Given the description of an element on the screen output the (x, y) to click on. 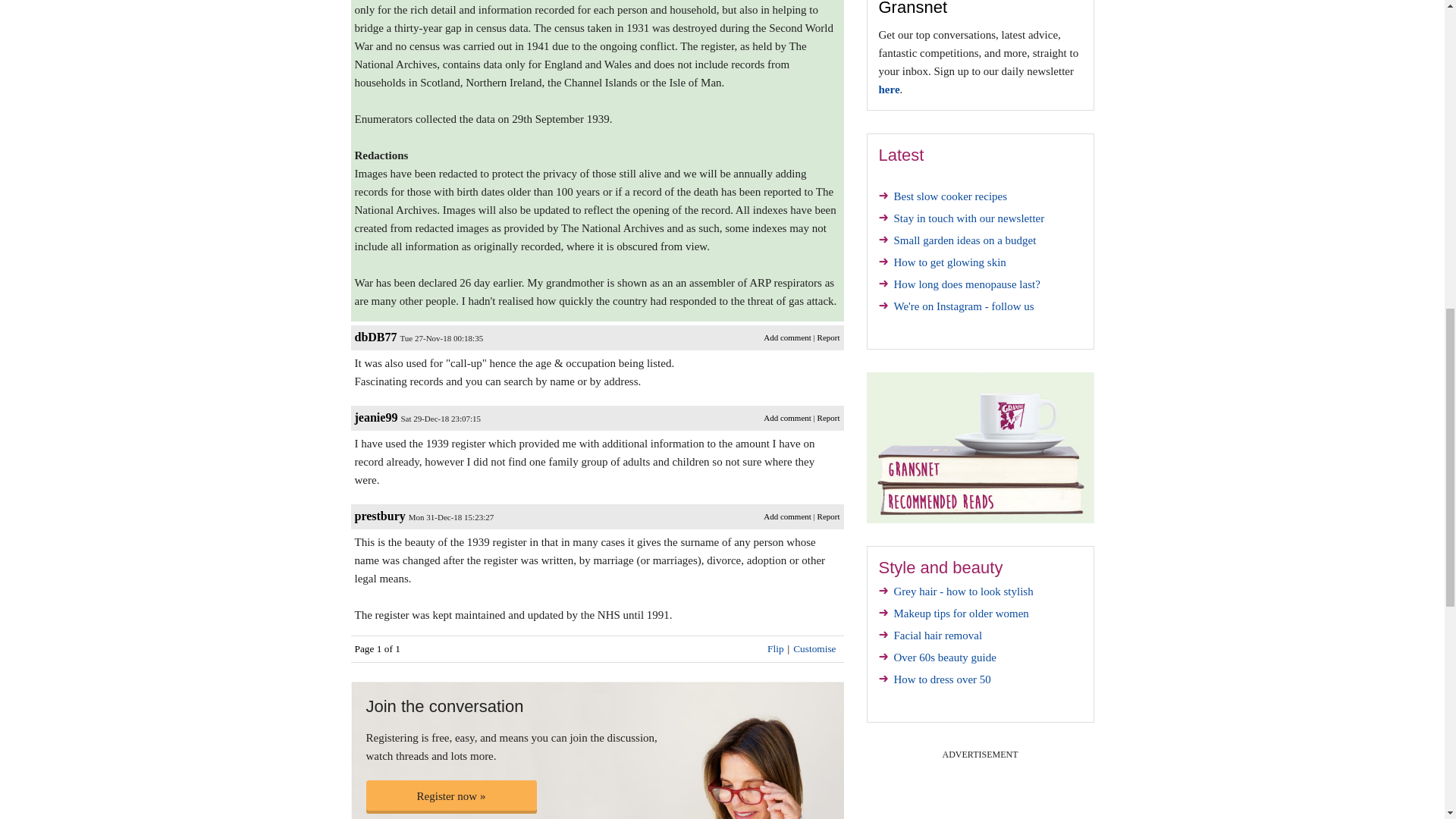
Add your comment to this discussion (786, 515)
jeanie99 (376, 417)
Add your comment to this discussion (786, 337)
prestbury (380, 515)
dbDB77 (376, 336)
Report this post to Gransnet (828, 417)
Report this post to Gransnet (828, 515)
Report this post to Gransnet (828, 337)
Add your comment to this discussion (786, 417)
